Given the description of an element on the screen output the (x, y) to click on. 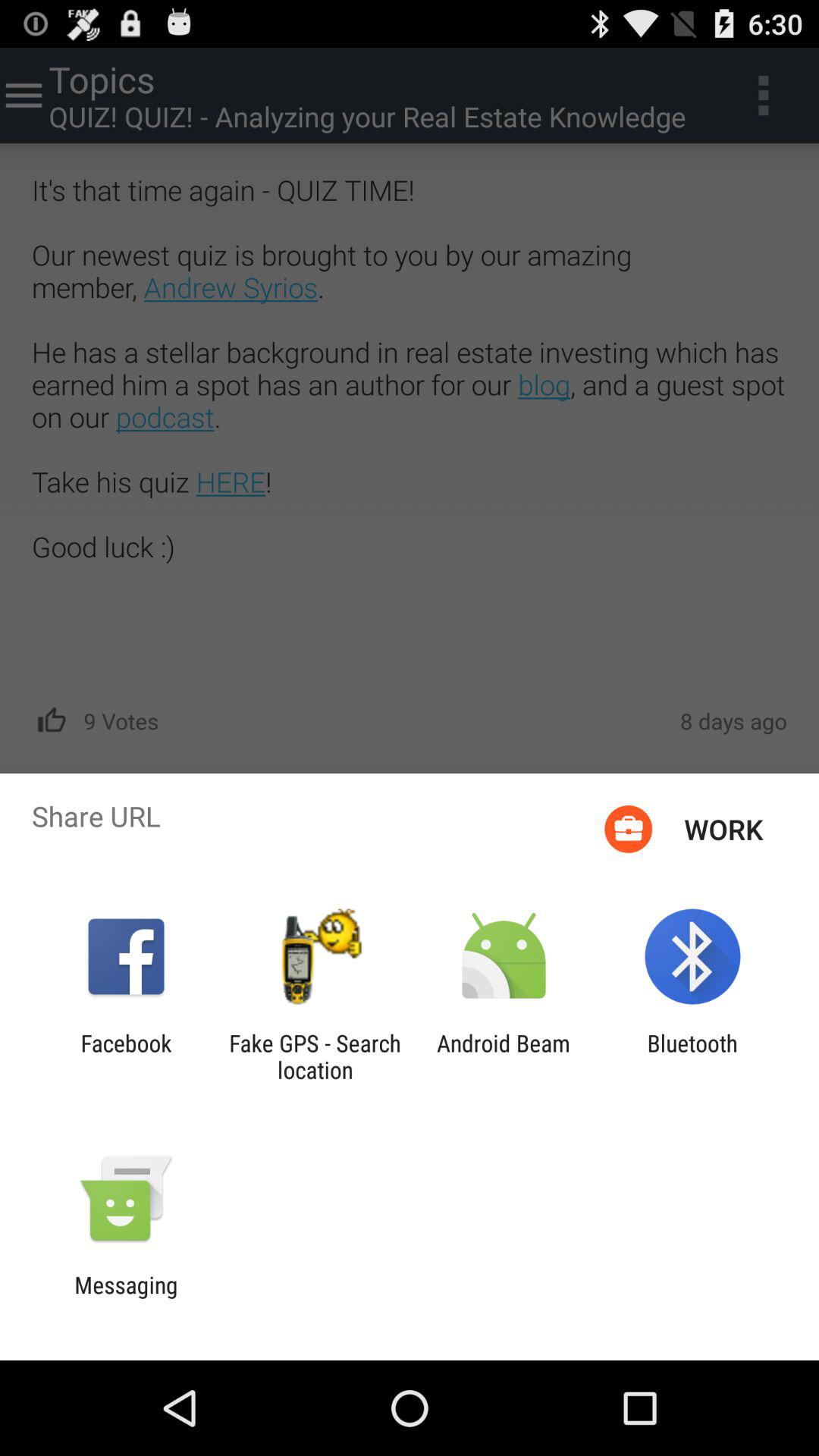
turn on the icon to the left of the bluetooth (503, 1056)
